Given the description of an element on the screen output the (x, y) to click on. 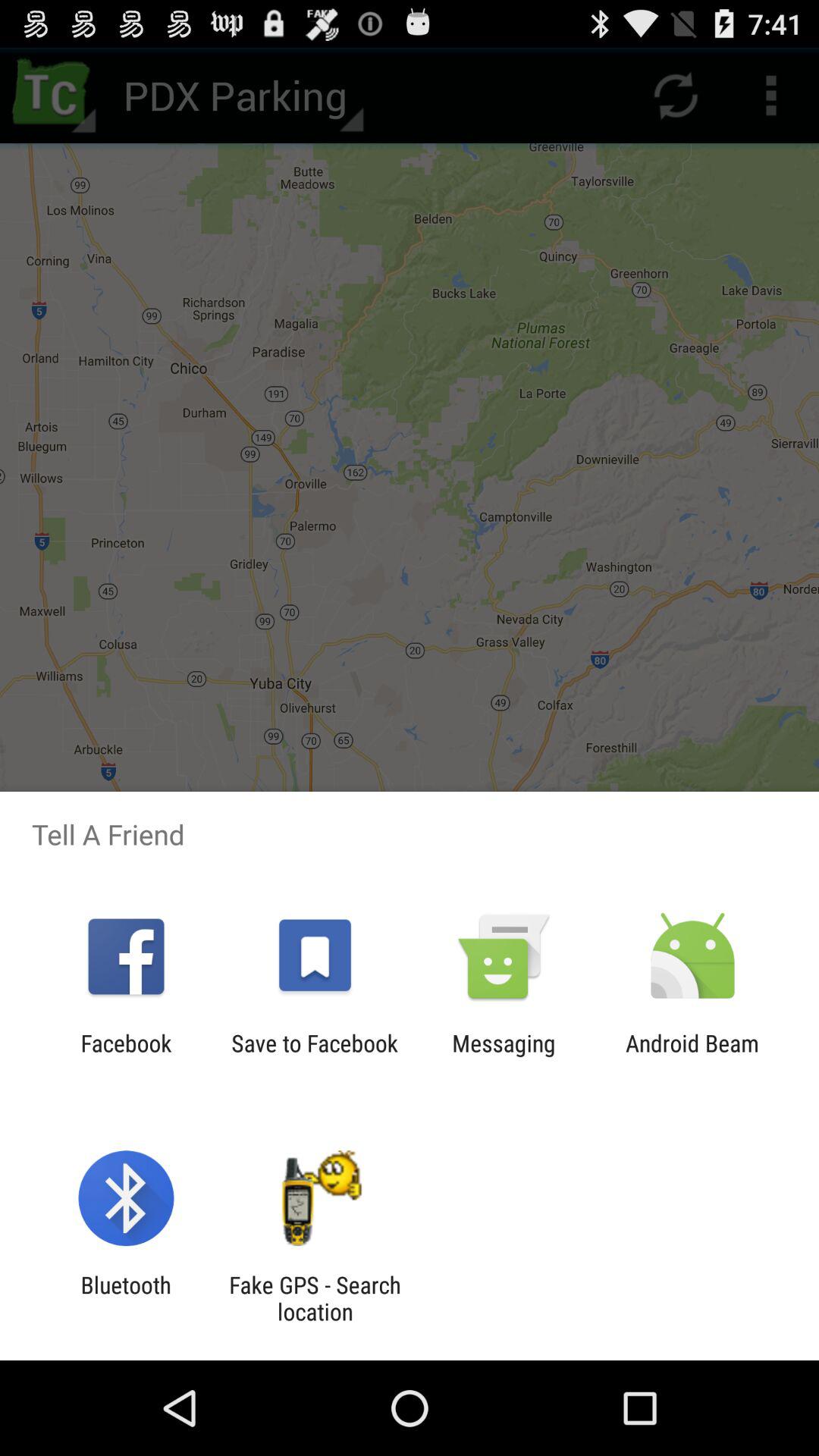
click the item to the right of the messaging app (692, 1056)
